Given the description of an element on the screen output the (x, y) to click on. 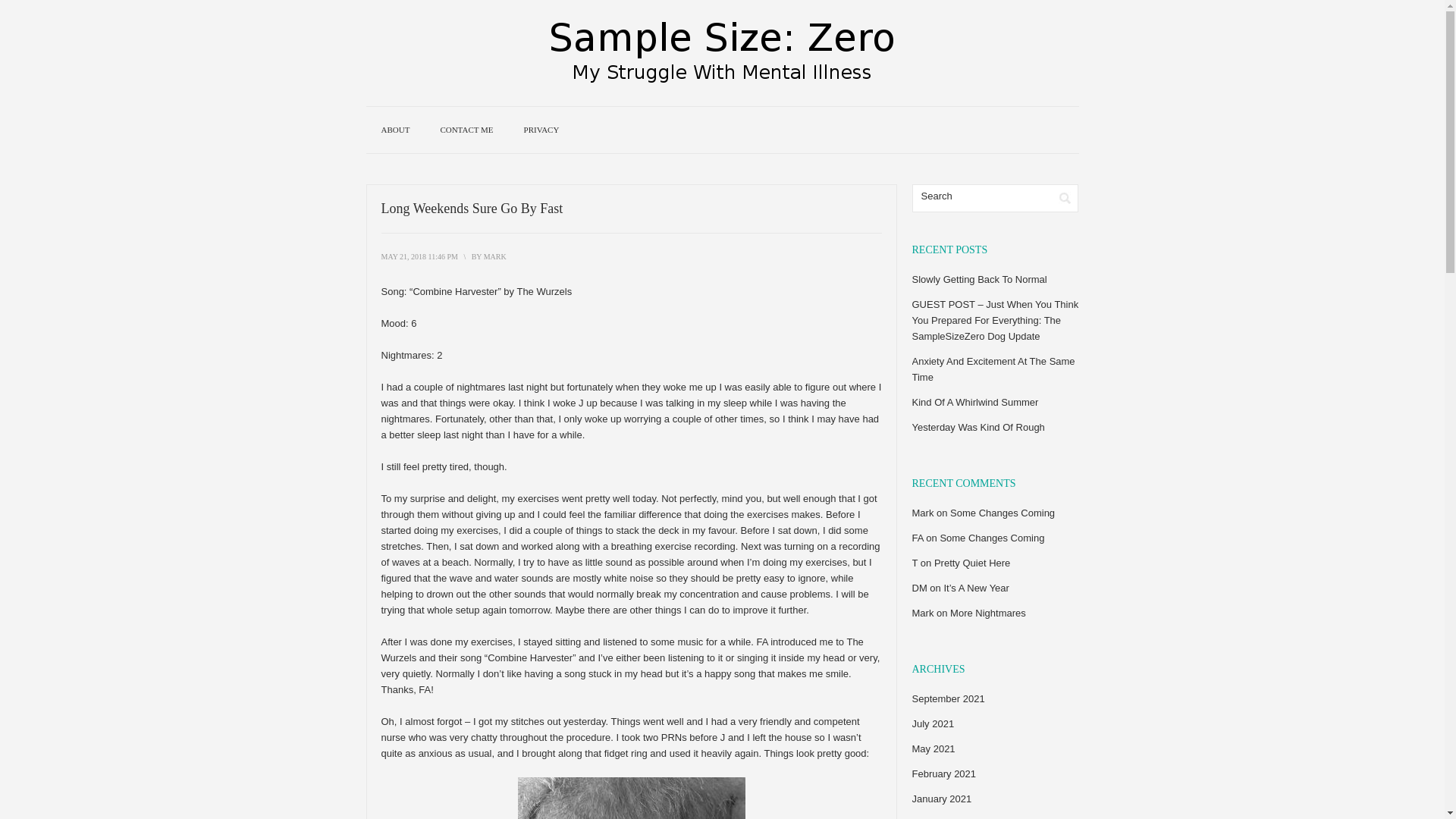
September 2021 (947, 698)
by Mark (494, 256)
Yesterday Was Kind Of Rough (977, 427)
ABOUT (395, 130)
Search (1064, 197)
May 2021 (933, 748)
Slowly Getting Back To Normal (978, 279)
February 2021 (943, 773)
Some Changes Coming (1002, 512)
MAY 21, 2018 11:46 PM (418, 256)
